Given the description of an element on the screen output the (x, y) to click on. 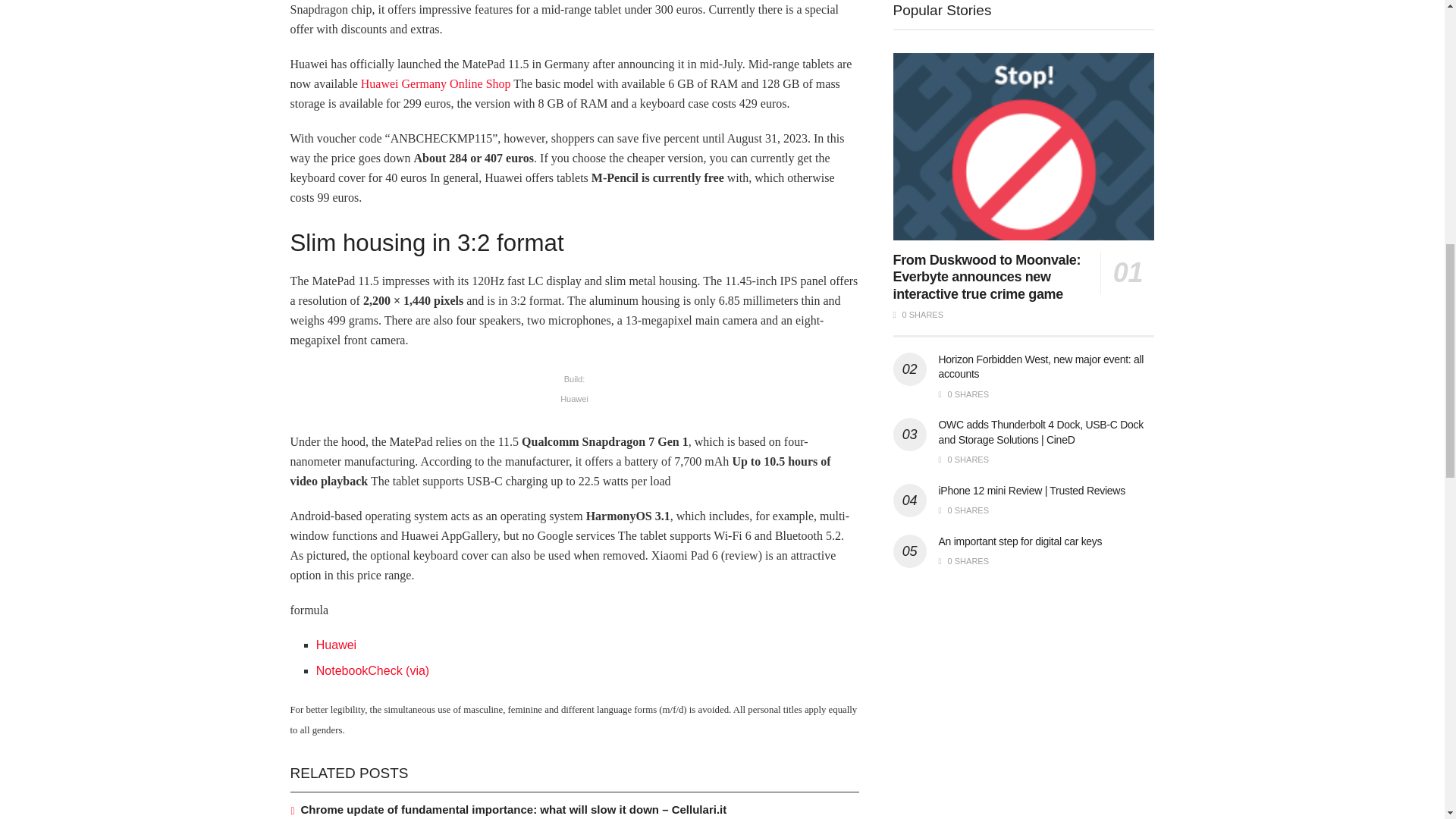
Huawei Germany Online Shop (436, 83)
Huawei (335, 644)
